Given the description of an element on the screen output the (x, y) to click on. 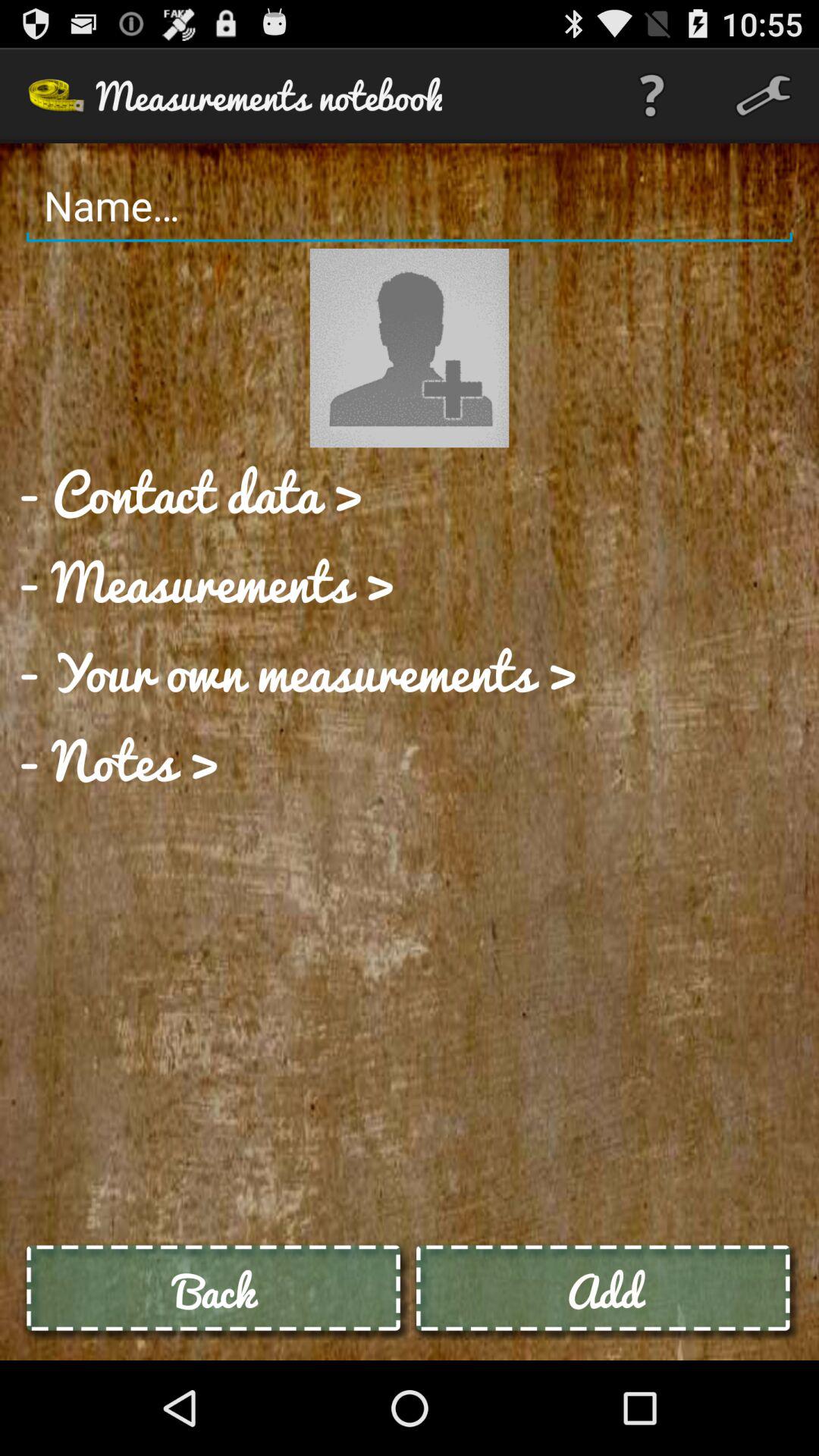
jump until the back button (214, 1290)
